Given the description of an element on the screen output the (x, y) to click on. 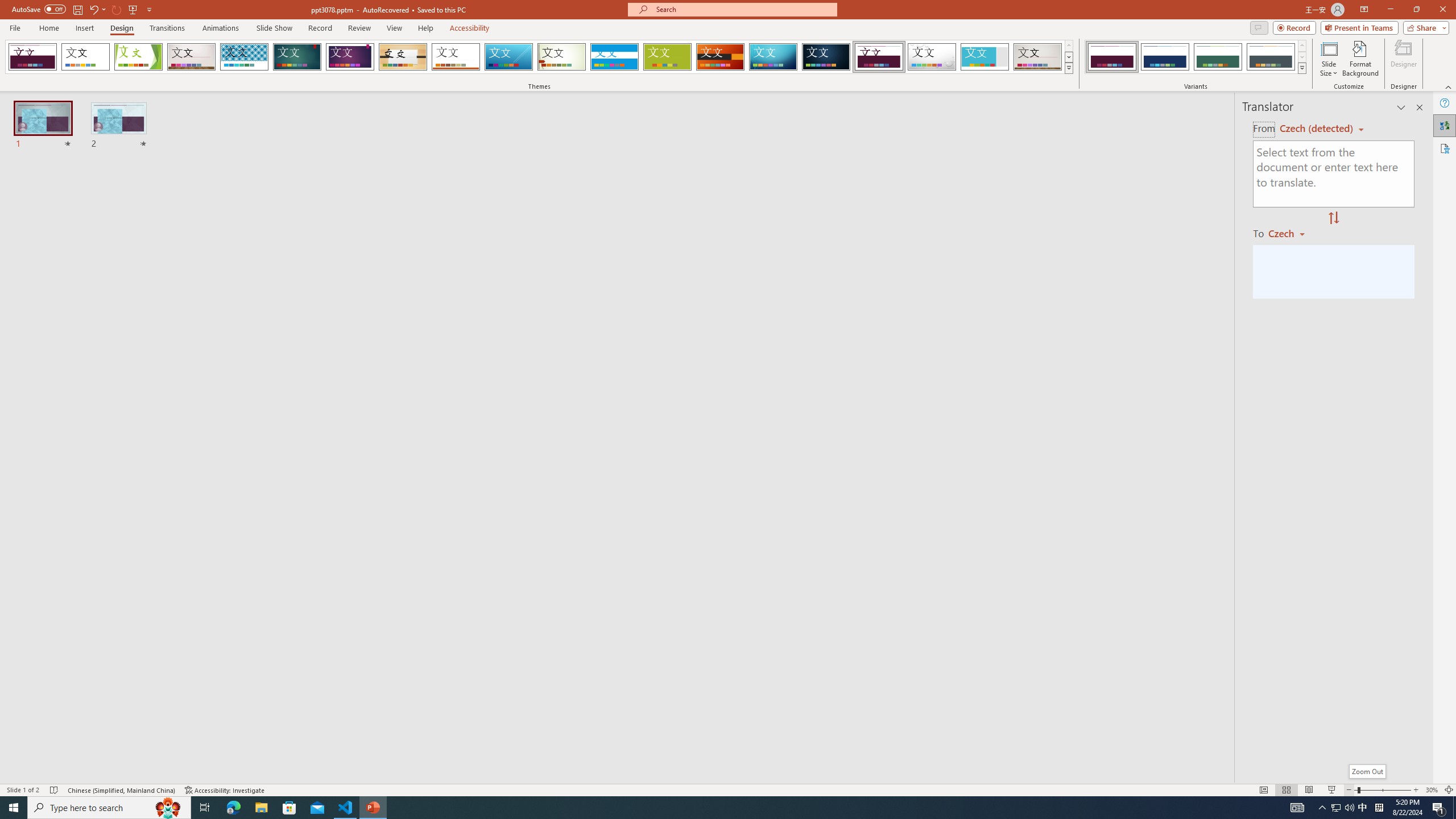
Basis (667, 56)
Damask (826, 56)
Czech (detected) (1317, 128)
